Given the description of an element on the screen output the (x, y) to click on. 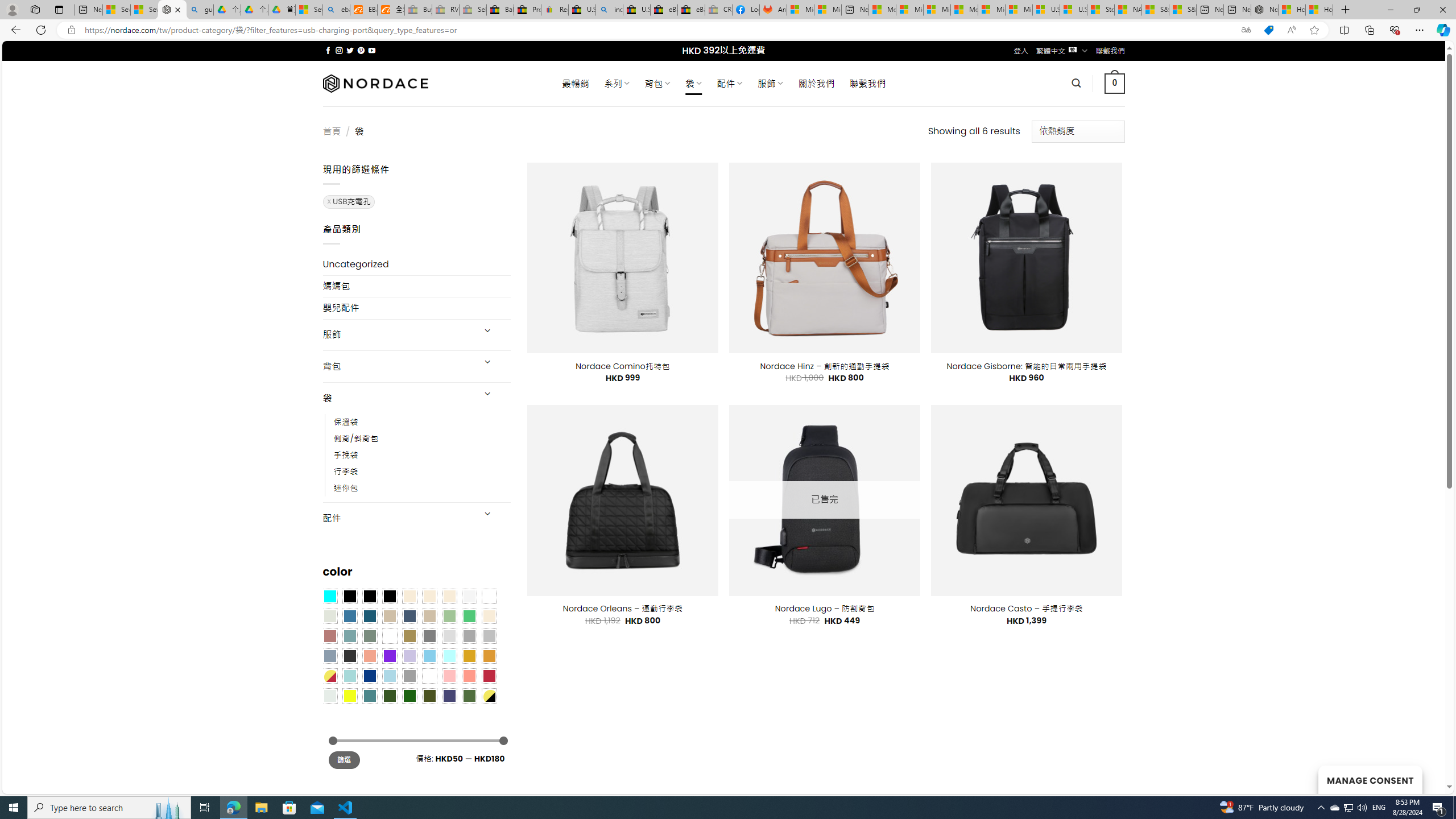
Microsoft account | Privacy (909, 9)
 0  (1115, 83)
Dull Nickle (329, 694)
